Given the description of an element on the screen output the (x, y) to click on. 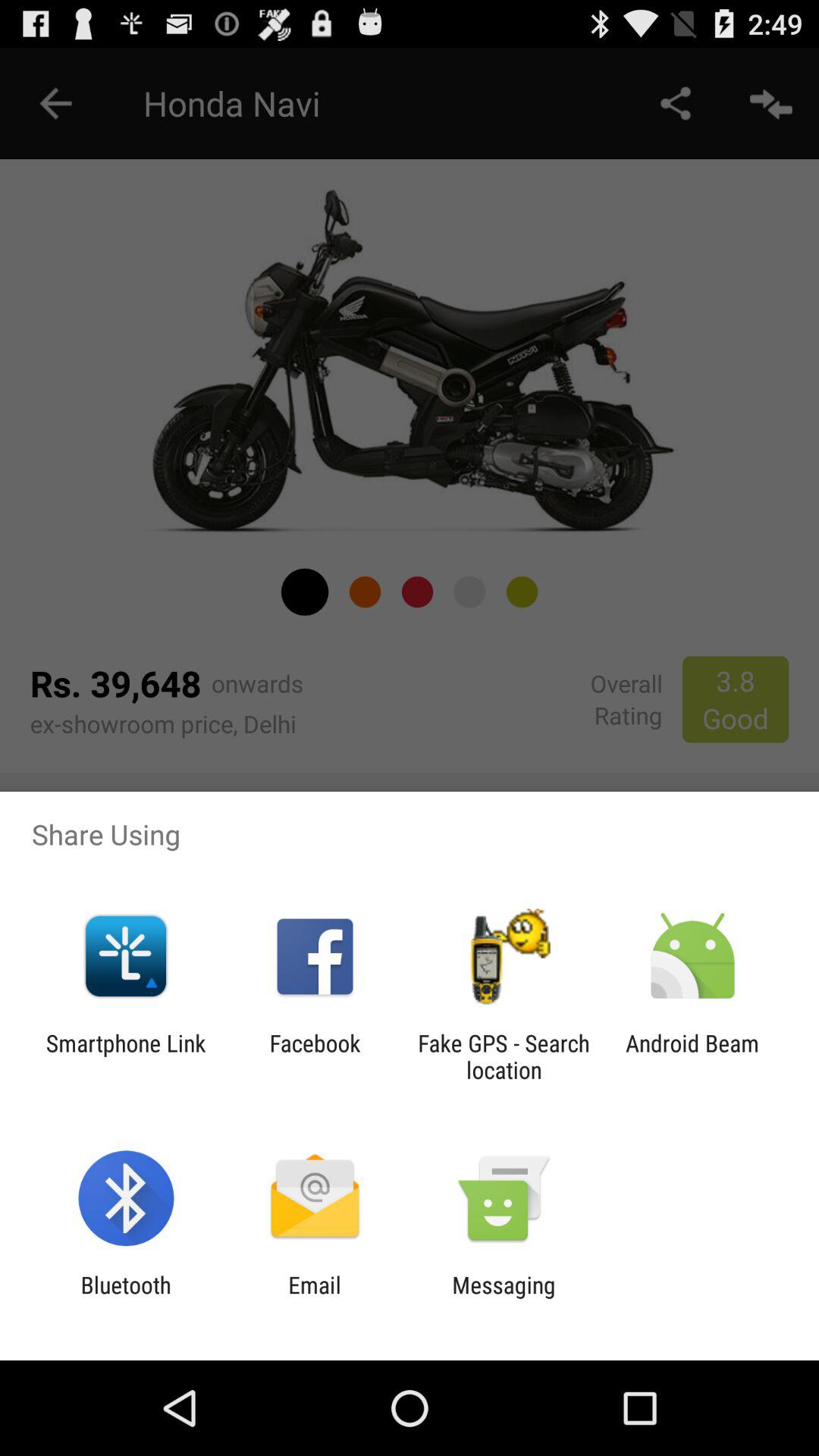
jump until android beam (692, 1056)
